Given the description of an element on the screen output the (x, y) to click on. 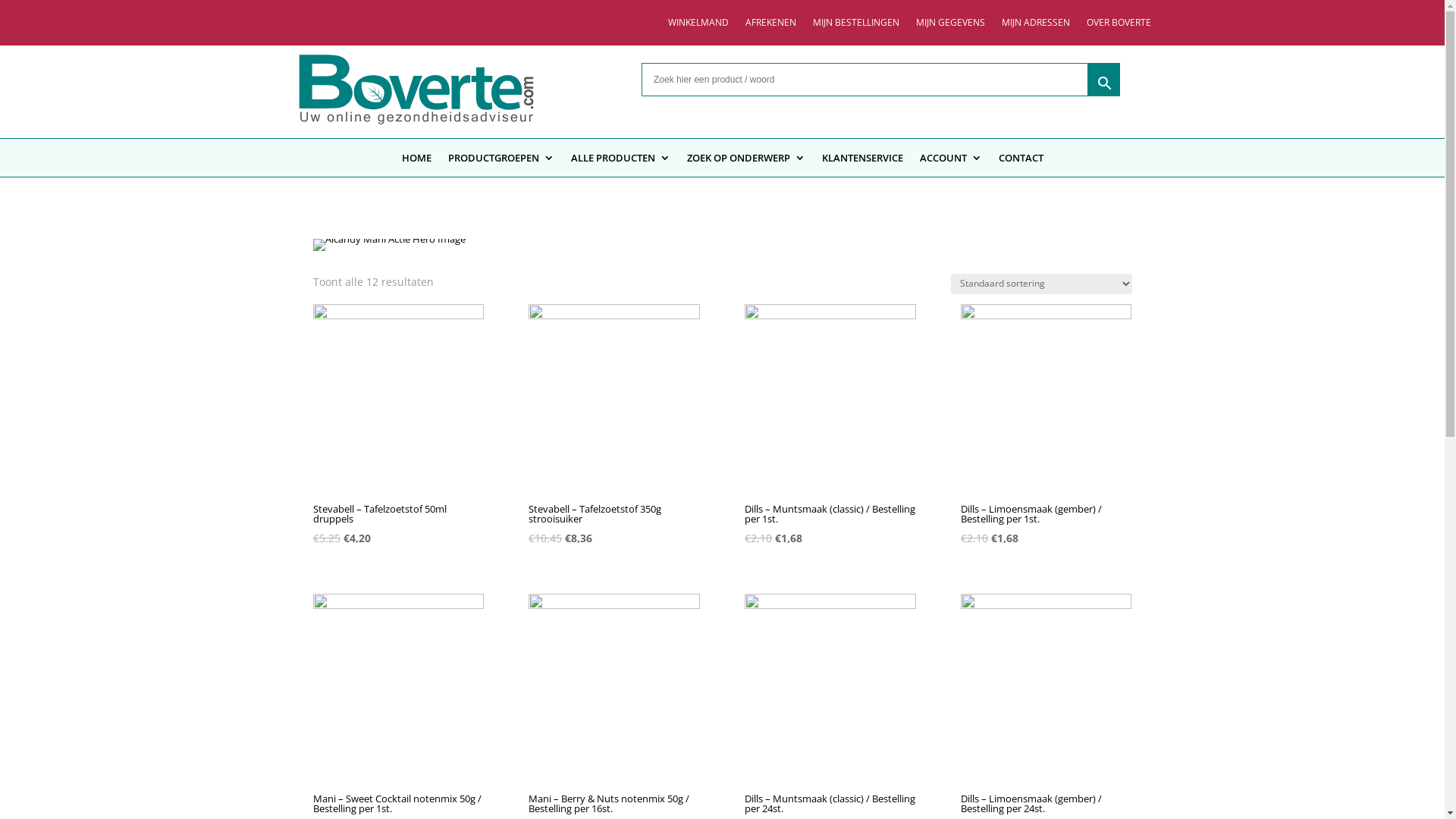
HOME Element type: text (416, 160)
KLANTENSERVICE Element type: text (862, 160)
OVER BOVERTE Element type: text (1118, 25)
MIJN ADRESSEN Element type: text (1035, 25)
CONTACT Element type: text (1019, 160)
WINKELMAND Element type: text (698, 25)
MIJN BESTELLINGEN Element type: text (855, 25)
AFREKENEN Element type: text (770, 25)
ZOEK OP ONDERWERP Element type: text (746, 160)
ALLE PRODUCTEN Element type: text (619, 160)
PRODUCTGROEPEN Element type: text (500, 160)
Mani_Alcandy_banner_image Element type: hover (388, 244)
MIJN GEGEVENS Element type: text (950, 25)
ACCOUNT Element type: text (950, 160)
